Given the description of an element on the screen output the (x, y) to click on. 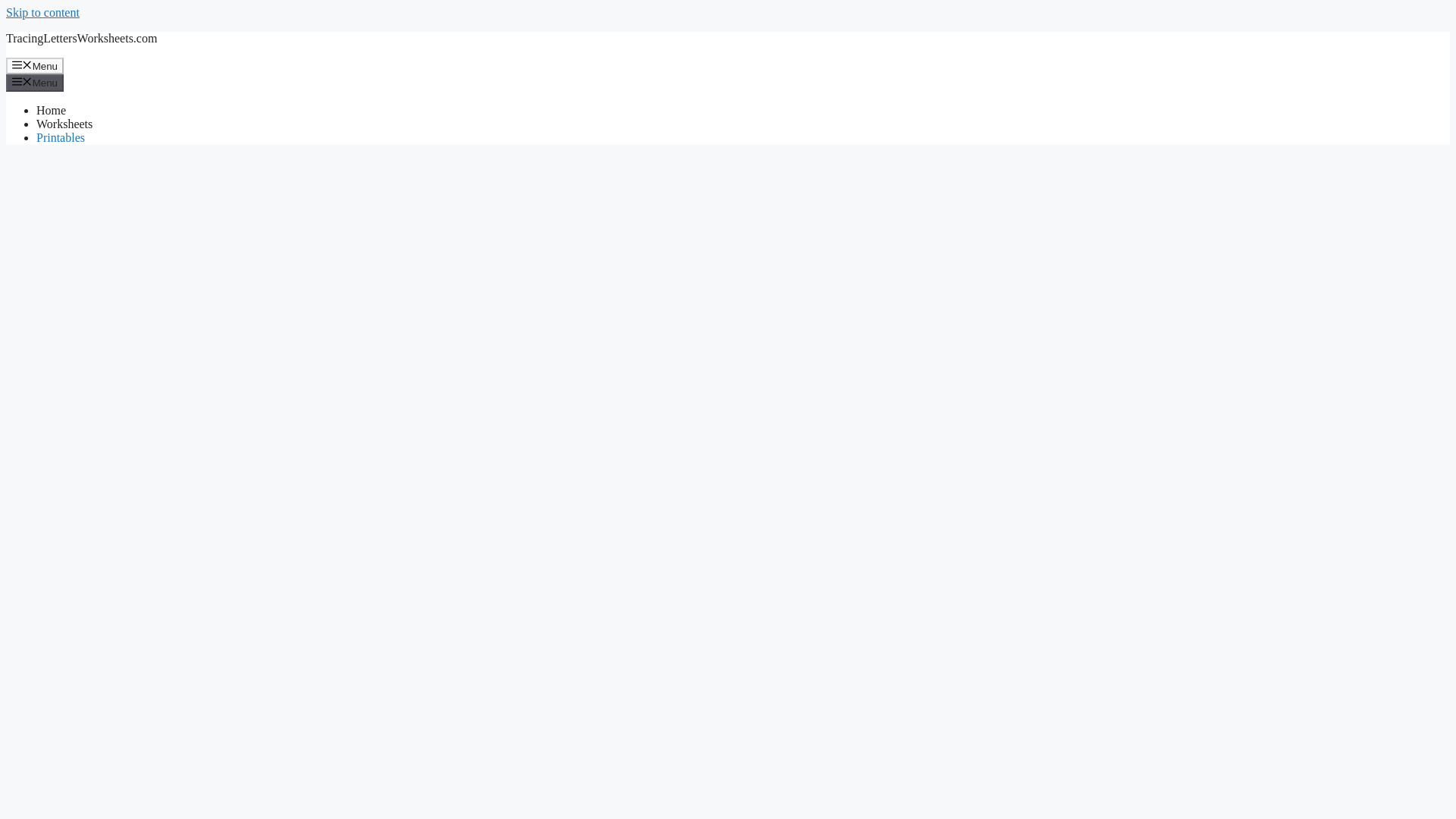
Skip to content (42, 11)
Home (50, 110)
TracingLettersWorksheets.com (81, 38)
Worksheets (64, 123)
Skip to content (42, 11)
Menu (34, 65)
Menu (34, 82)
